Given the description of an element on the screen output the (x, y) to click on. 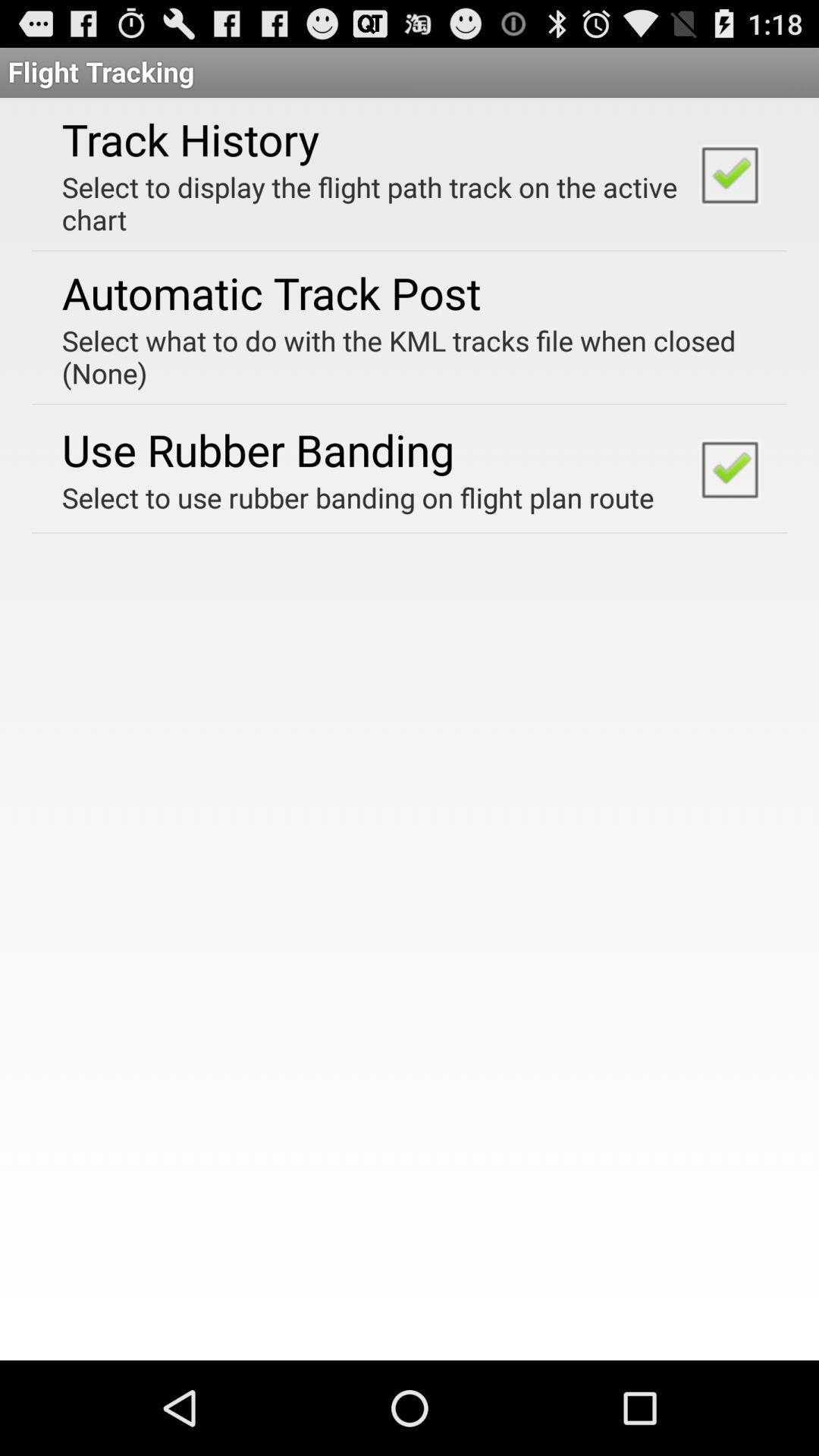
launch the icon above select to display item (190, 138)
